Given the description of an element on the screen output the (x, y) to click on. 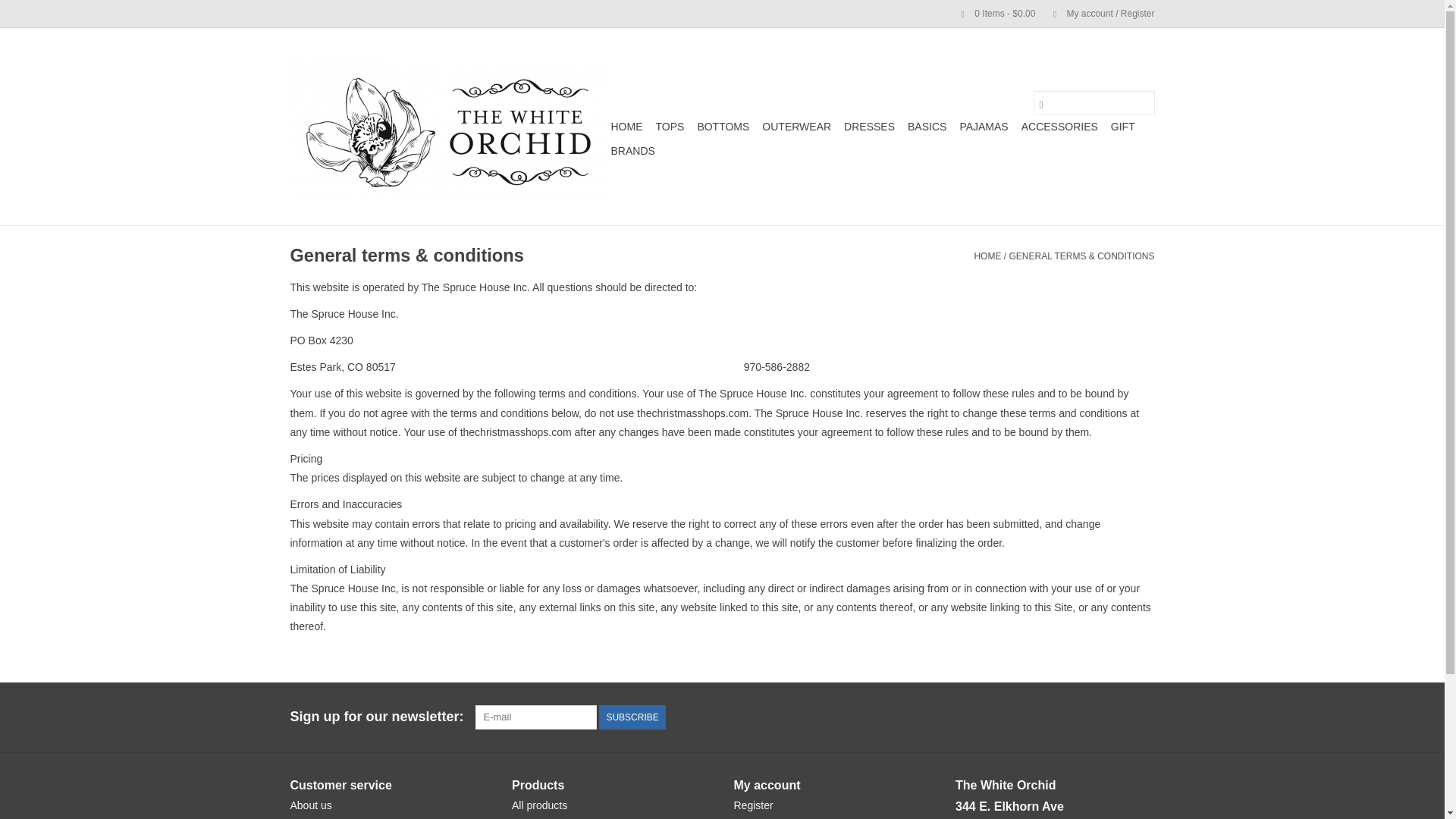
My account (1096, 13)
Cart (992, 13)
OUTERWEAR (796, 125)
TOPS (669, 125)
Tops (669, 125)
DRESSES (869, 125)
SUBSCRIBE (631, 717)
ACCESSORIES (1059, 125)
About us (310, 805)
All products (539, 805)
